Given the description of an element on the screen output the (x, y) to click on. 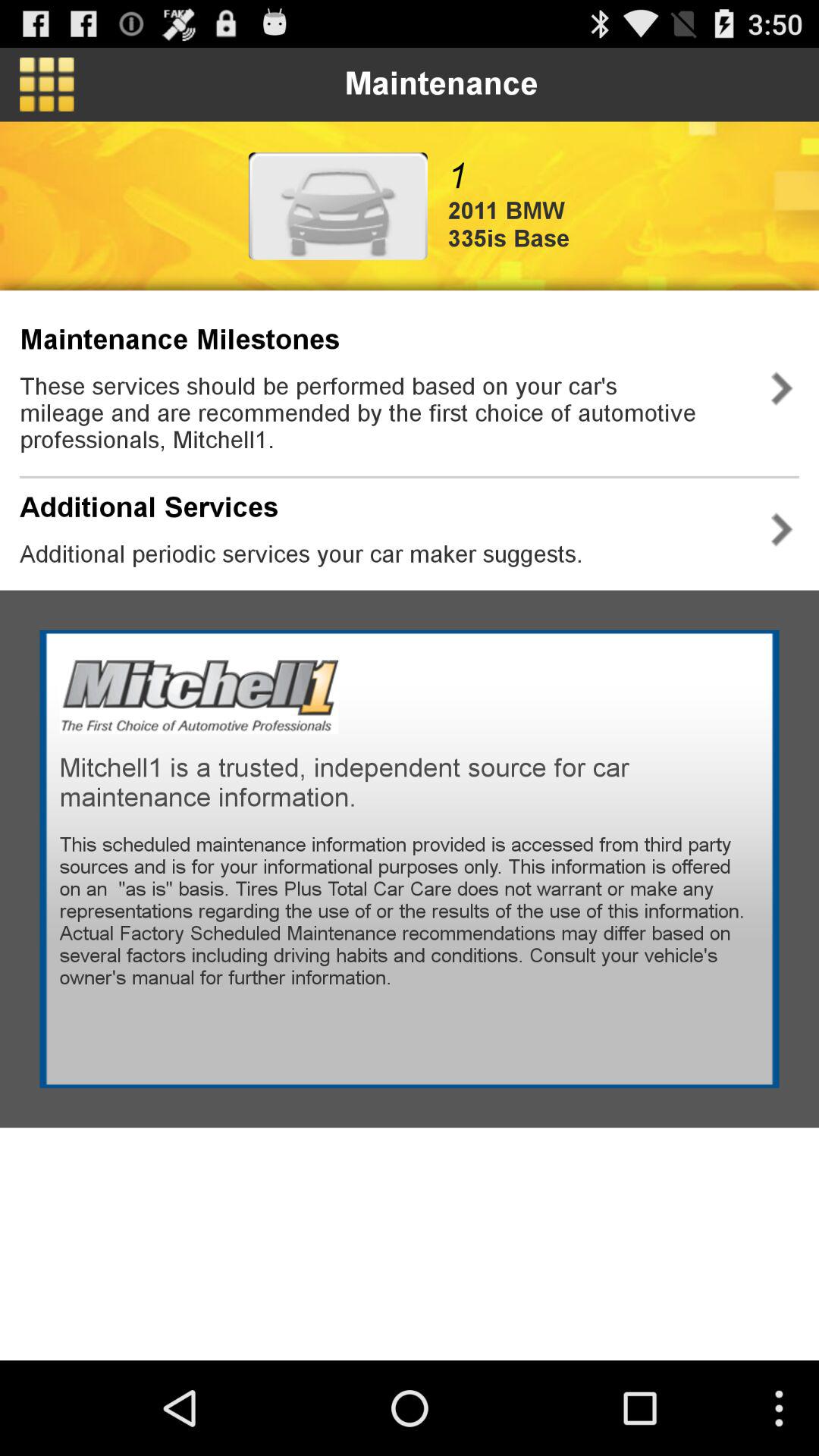
turn on icon next to 1 (337, 205)
